Given the description of an element on the screen output the (x, y) to click on. 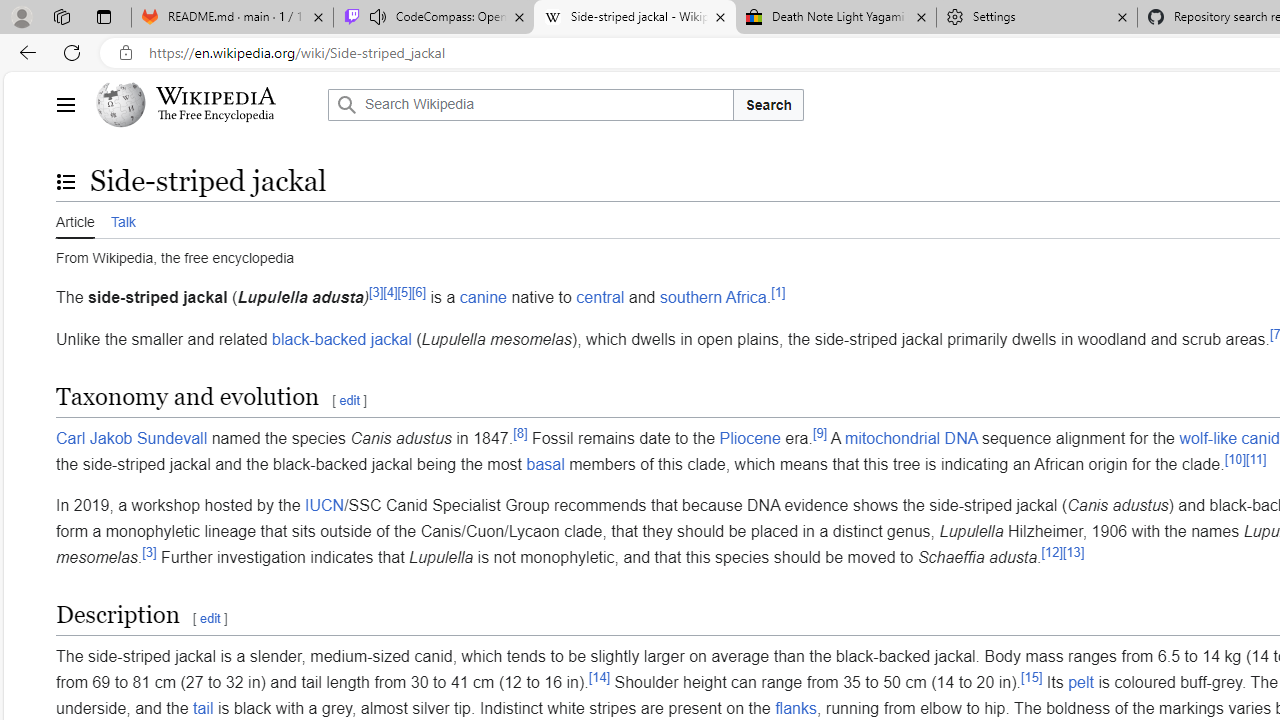
Article (75, 219)
[8] (520, 432)
central (600, 297)
basal (545, 464)
[1] (777, 291)
